Given the description of an element on the screen output the (x, y) to click on. 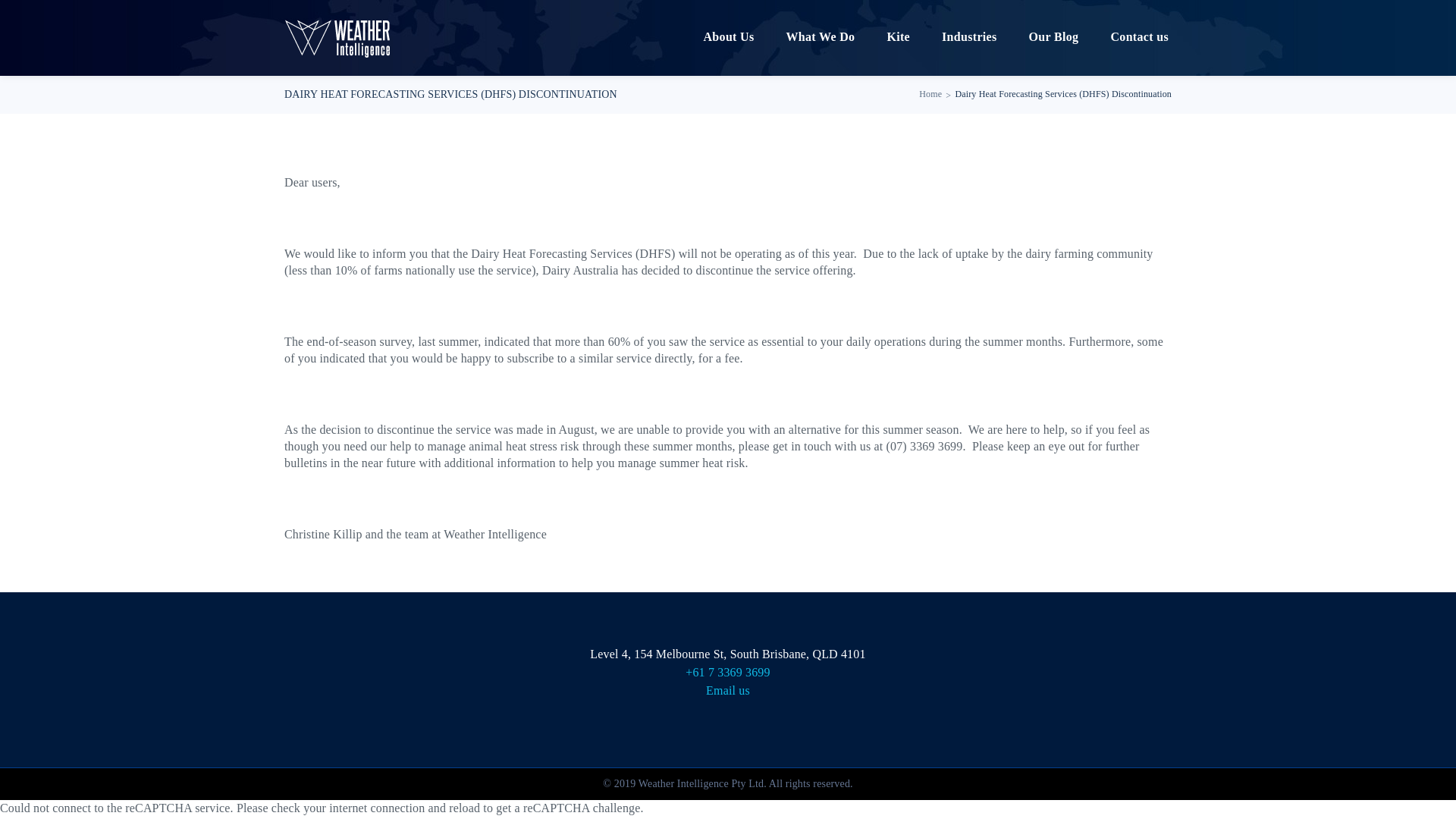
Home Element type: text (930, 93)
Contact us Element type: text (1139, 37)
About Us Element type: text (727, 37)
Our Blog Element type: text (1053, 37)
What We Do Element type: text (819, 37)
Kite Element type: text (898, 37)
+61 7 3369 3699 Element type: text (727, 671)
Industries Element type: text (969, 37)
Email us Element type: text (727, 690)
